Given the description of an element on the screen output the (x, y) to click on. 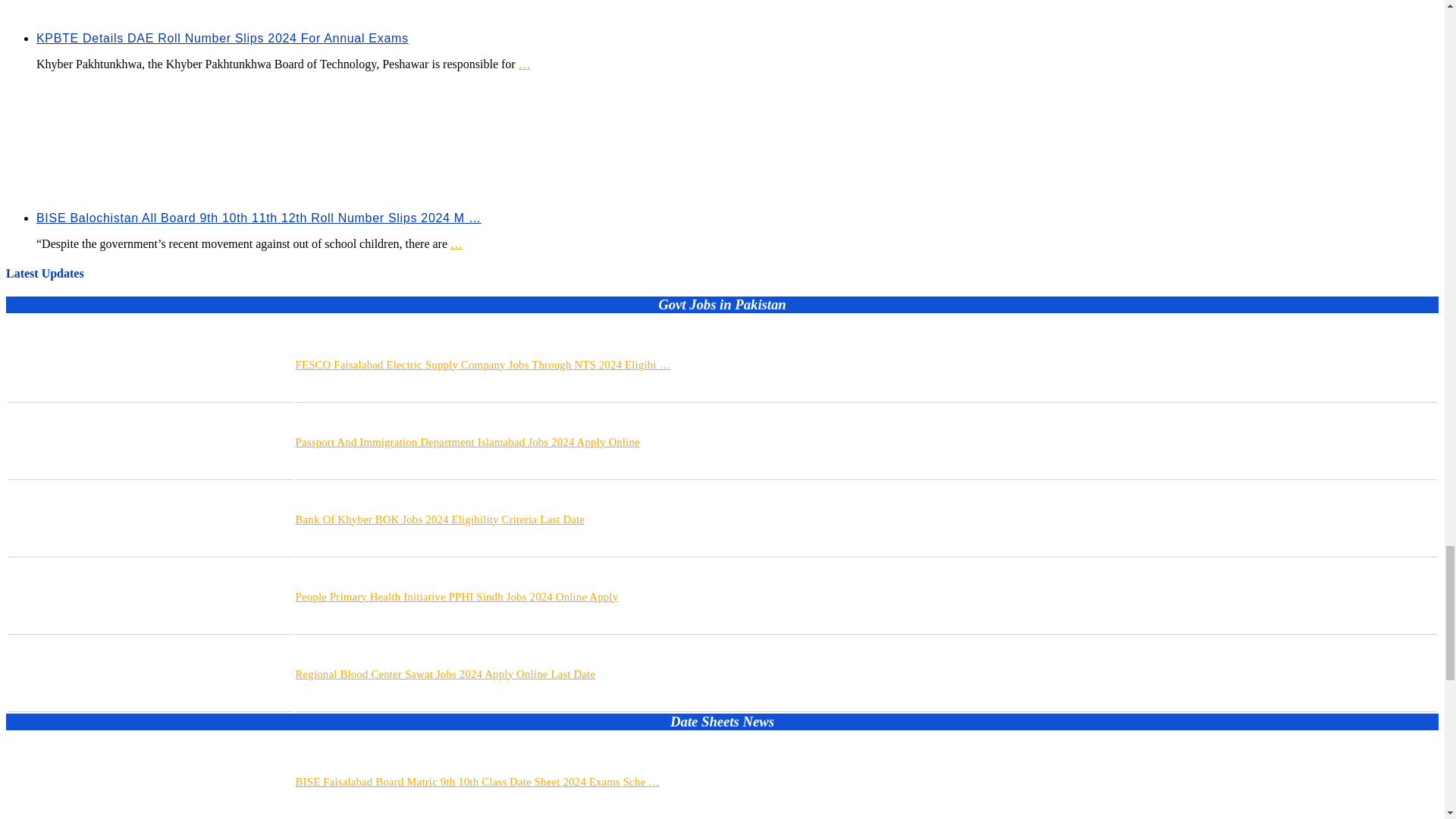
KPBTE Details DAE Roll Number Slips 2024 For Annual Exams (222, 38)
KPBTE Details DAE Roll Number Slips 2024 For Annual Exams (523, 38)
